Given the description of an element on the screen output the (x, y) to click on. 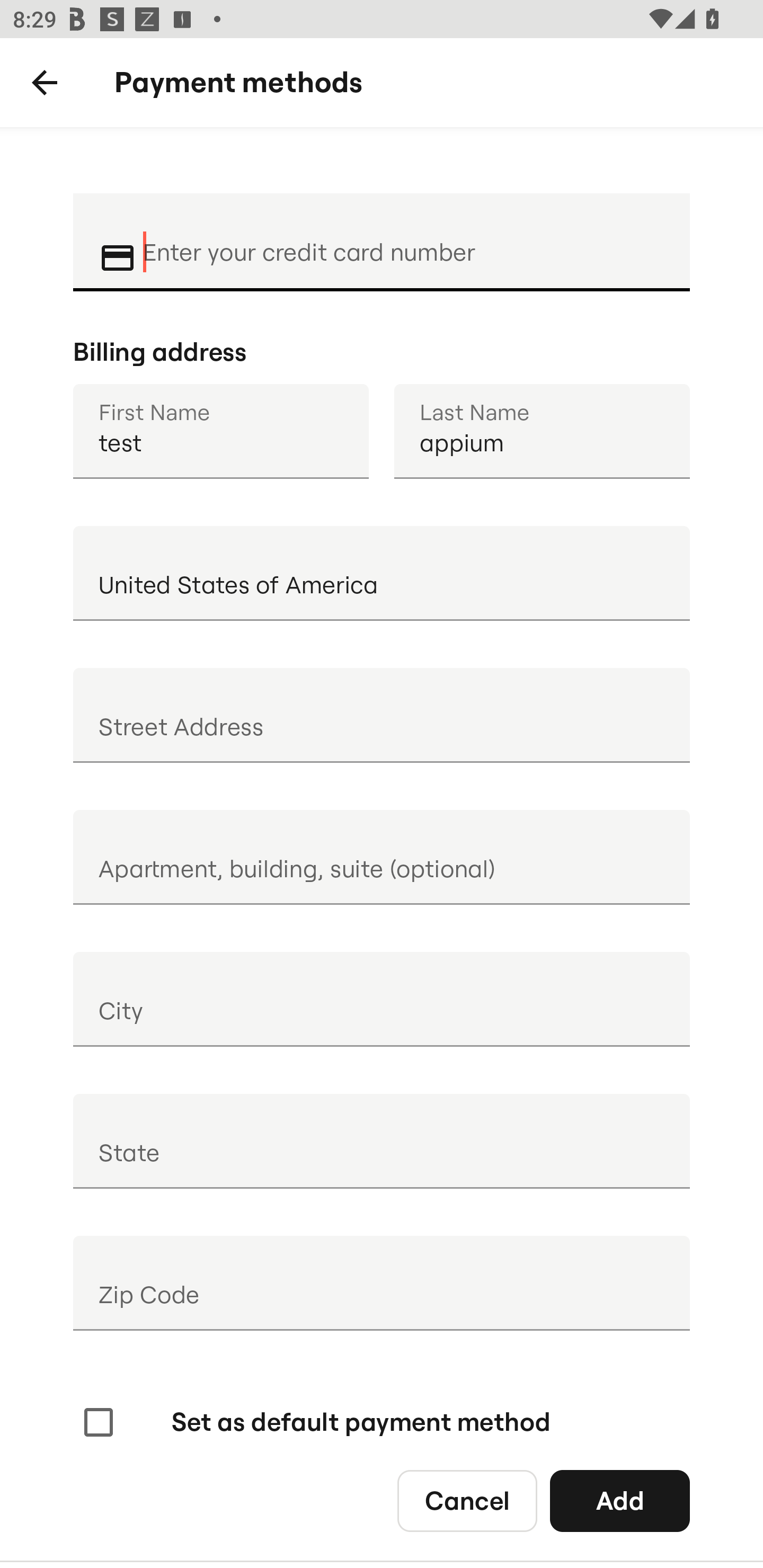
Back (44, 82)
Enter your credit card number (403, 240)
test (220, 431)
appium (541, 431)
United States of America (381, 572)
Street Address (381, 714)
Apartment, building, suite (optional) (381, 857)
City (381, 999)
State (381, 1141)
Zip Code (381, 1283)
Set as default payment method (314, 1421)
Cancel (467, 1500)
Add (619, 1500)
